Given the description of an element on the screen output the (x, y) to click on. 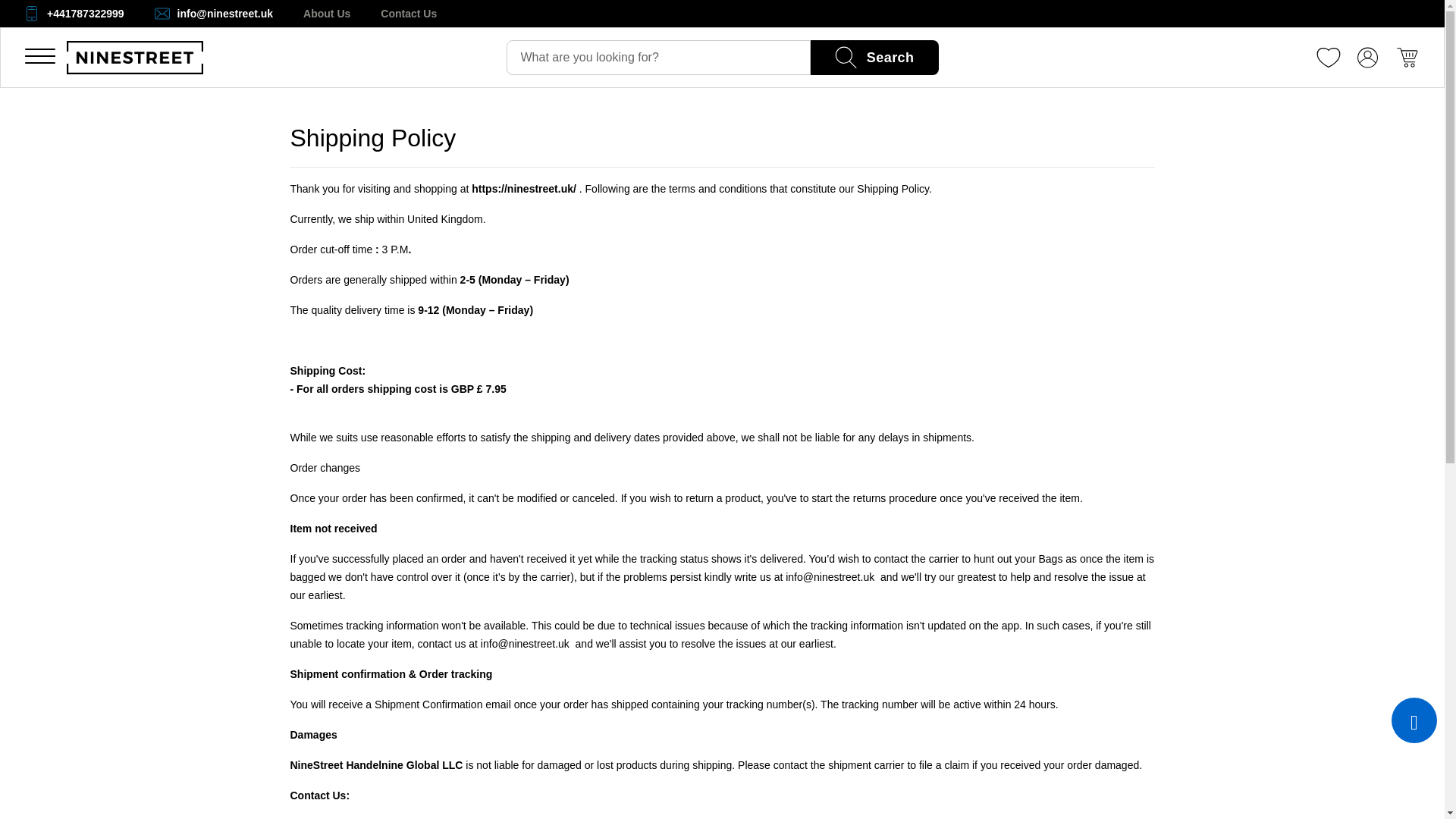
Contact Us (408, 13)
Search (874, 57)
DirectNine (139, 57)
About Us (326, 13)
